Given the description of an element on the screen output the (x, y) to click on. 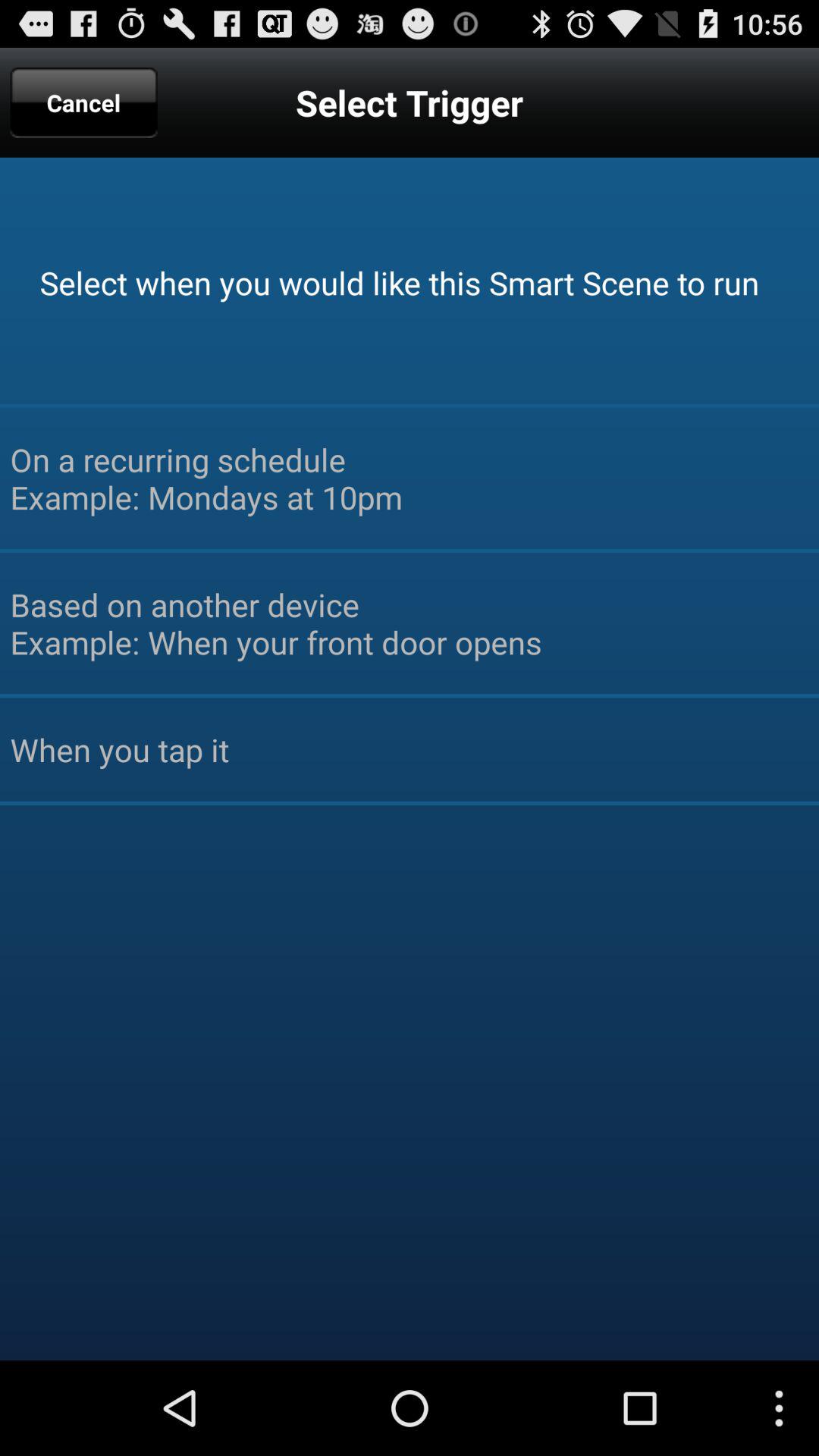
tap item below on a recurring item (409, 622)
